Given the description of an element on the screen output the (x, y) to click on. 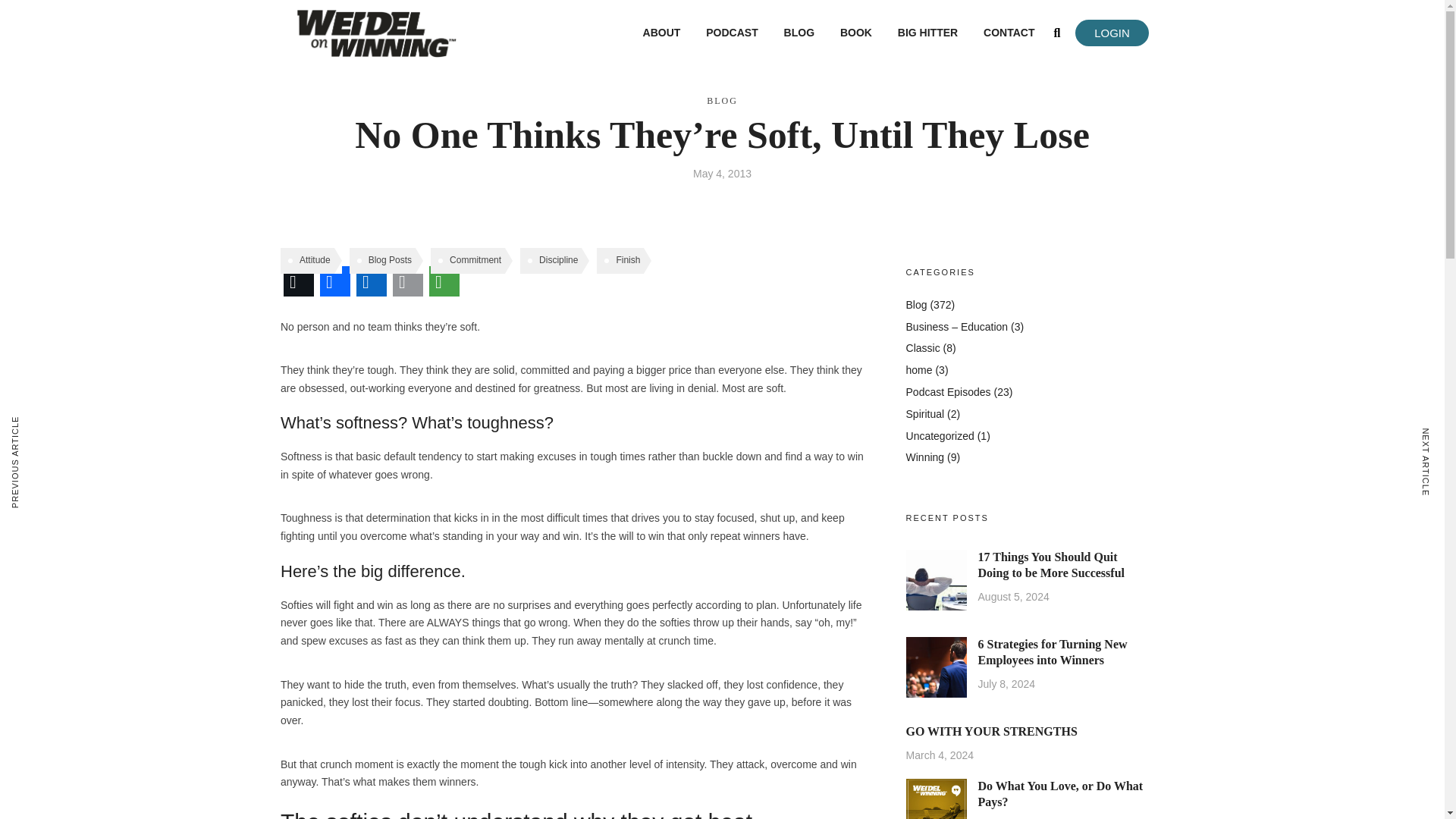
ABOUT (661, 33)
More Options (444, 280)
LOGIN (1111, 32)
BLOG (799, 33)
LinkedIn (371, 280)
Email This (408, 280)
BOOK (855, 33)
BLOG (722, 100)
PODCAST (731, 33)
BIG HITTER (926, 33)
